Given the description of an element on the screen output the (x, y) to click on. 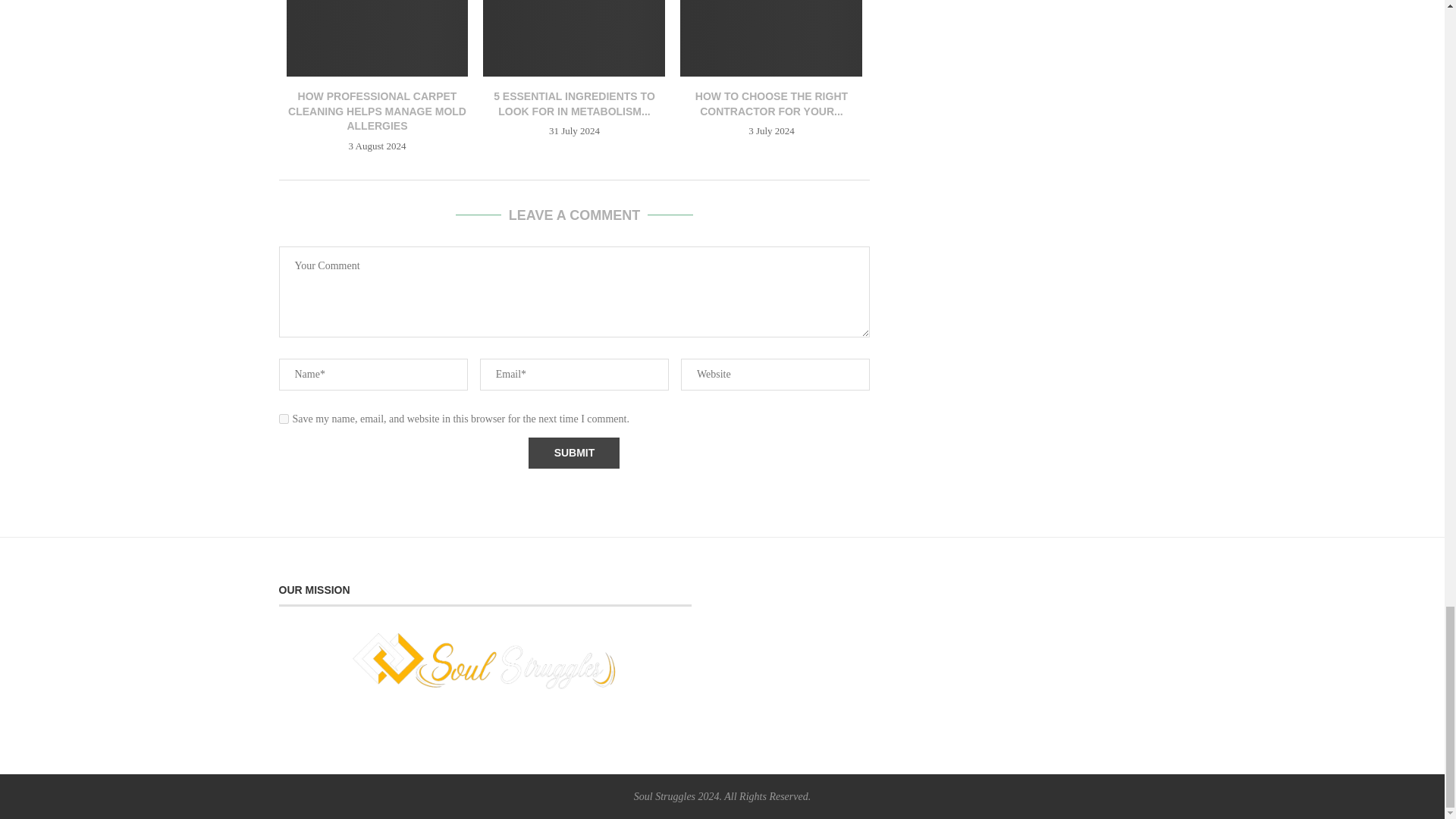
yes (283, 419)
Submit (574, 452)
How Professional Carpet Cleaning Helps Manage Mold Allergies (377, 38)
